Given the description of an element on the screen output the (x, y) to click on. 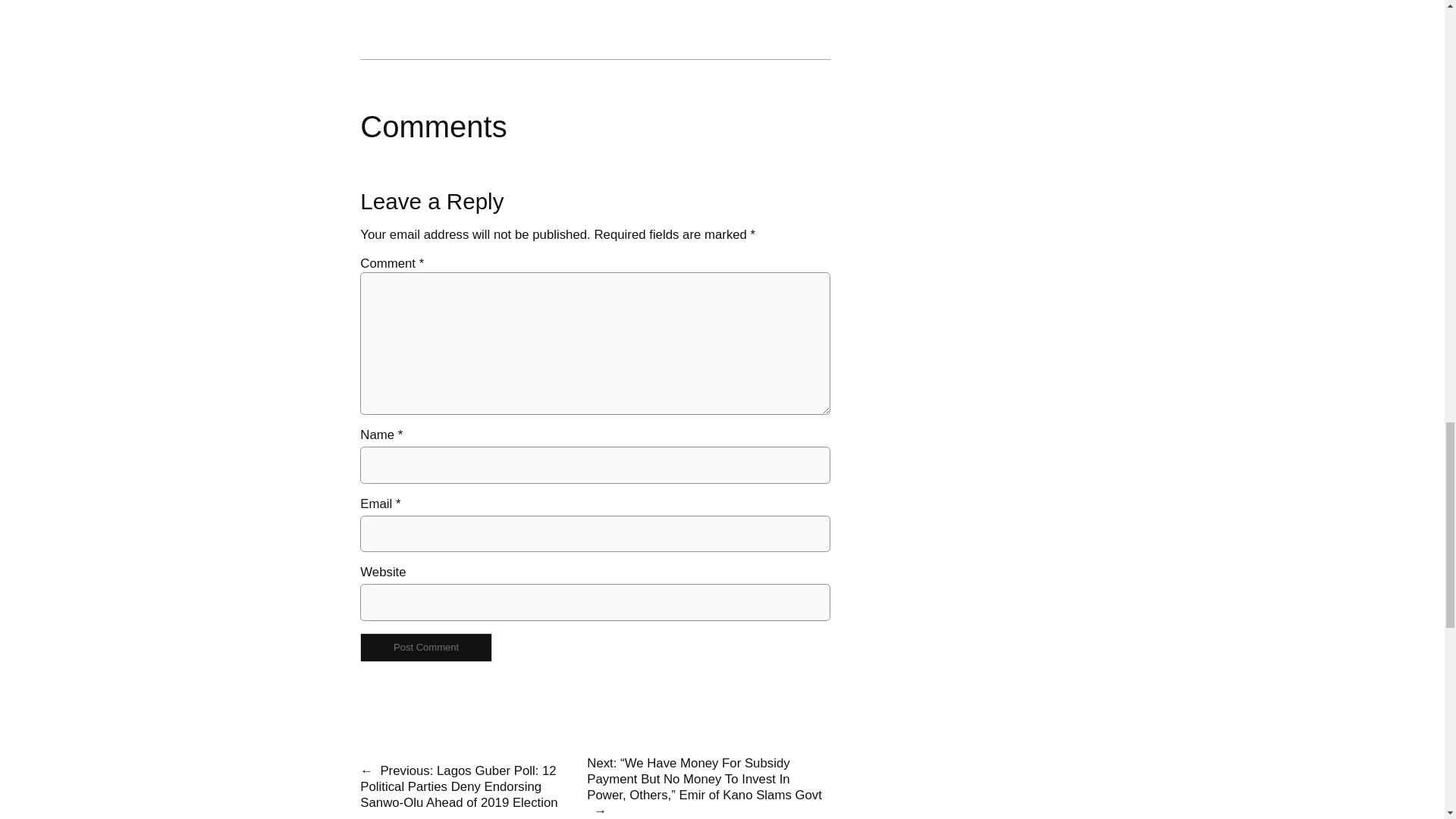
Post Comment (425, 646)
Post Comment (425, 646)
